Given the description of an element on the screen output the (x, y) to click on. 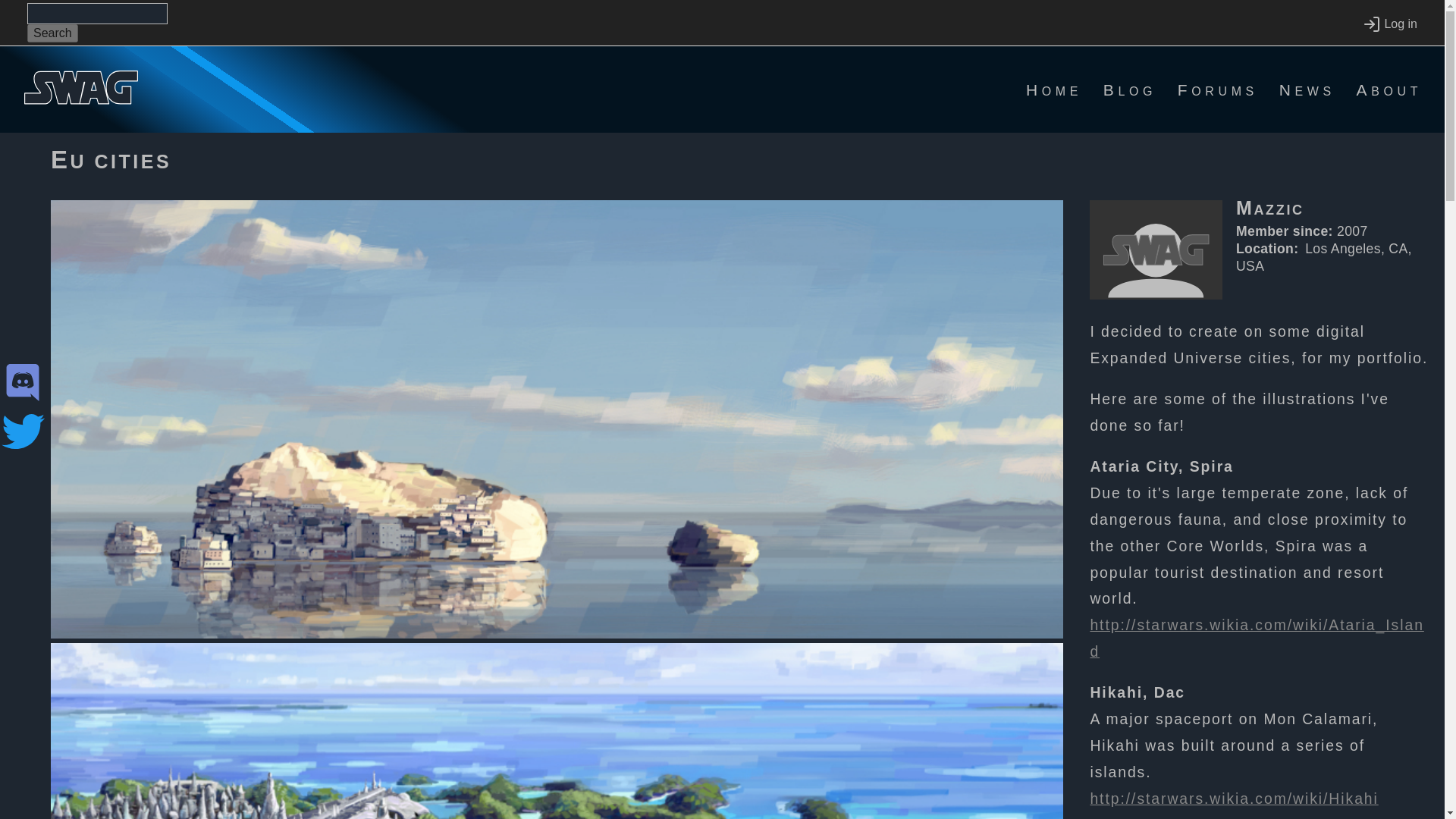
Home (1053, 89)
News (1307, 89)
Log in (1389, 24)
Search (52, 33)
Enter the terms you wish to search for. (97, 13)
Search (52, 33)
About (1389, 89)
Forums (1217, 89)
Blog (1129, 89)
Mazzic (1333, 213)
